Given the description of an element on the screen output the (x, y) to click on. 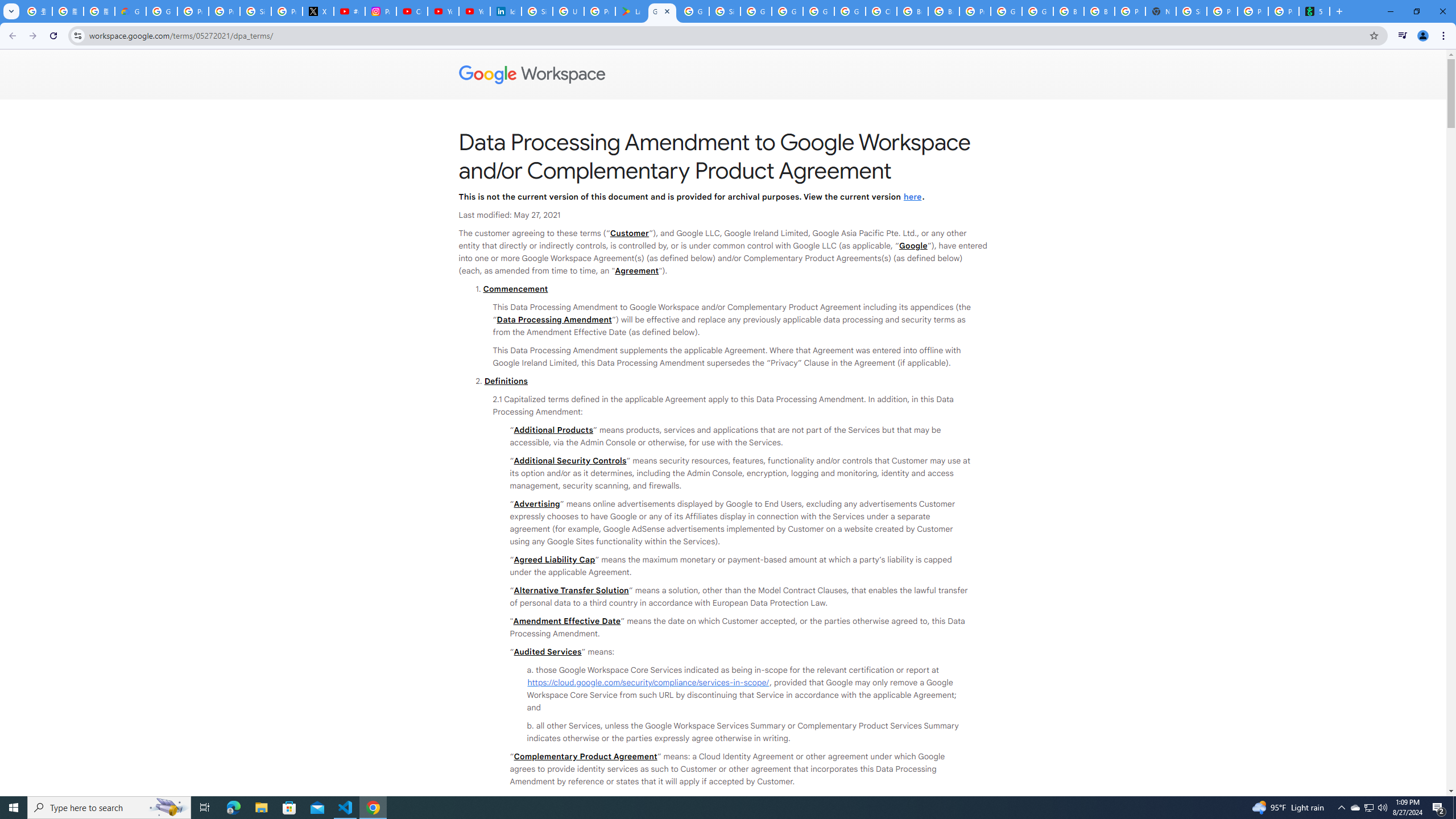
Sign in - Google Accounts (536, 11)
Browse Chrome as a guest - Computer - Google Chrome Help (1098, 11)
Google Cloud Platform (818, 11)
Browse Chrome as a guest - Computer - Google Chrome Help (943, 11)
YouTube Culture & Trends - YouTube Top 10, 2021 (474, 11)
Identity verification via Persona | LinkedIn Help (505, 11)
